Given the description of an element on the screen output the (x, y) to click on. 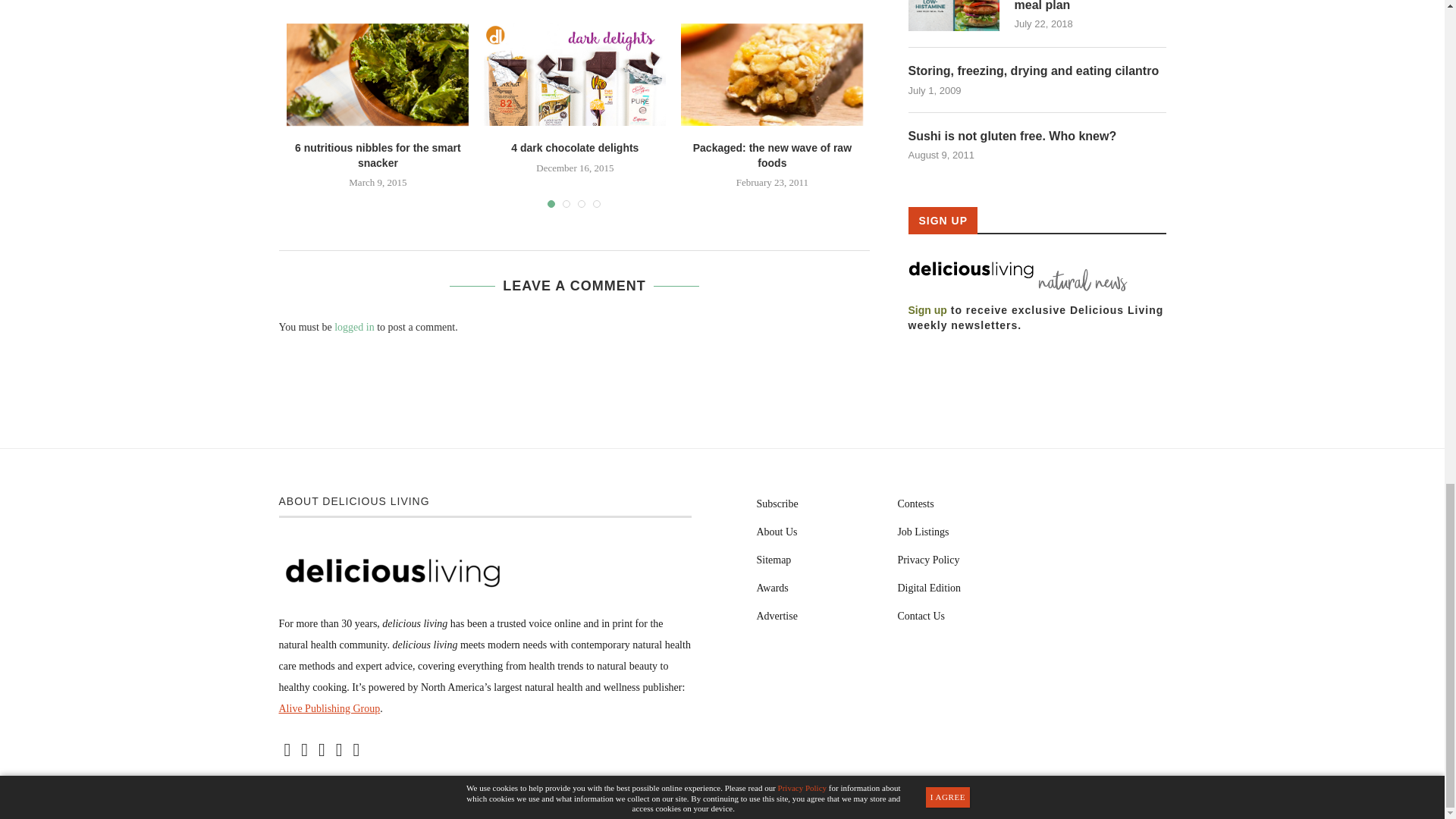
4 dark chocolate delights (574, 75)
Packaged: the new wave of raw foods (772, 75)
6 nutritious nibbles for the smart snacker (377, 75)
